Given the description of an element on the screen output the (x, y) to click on. 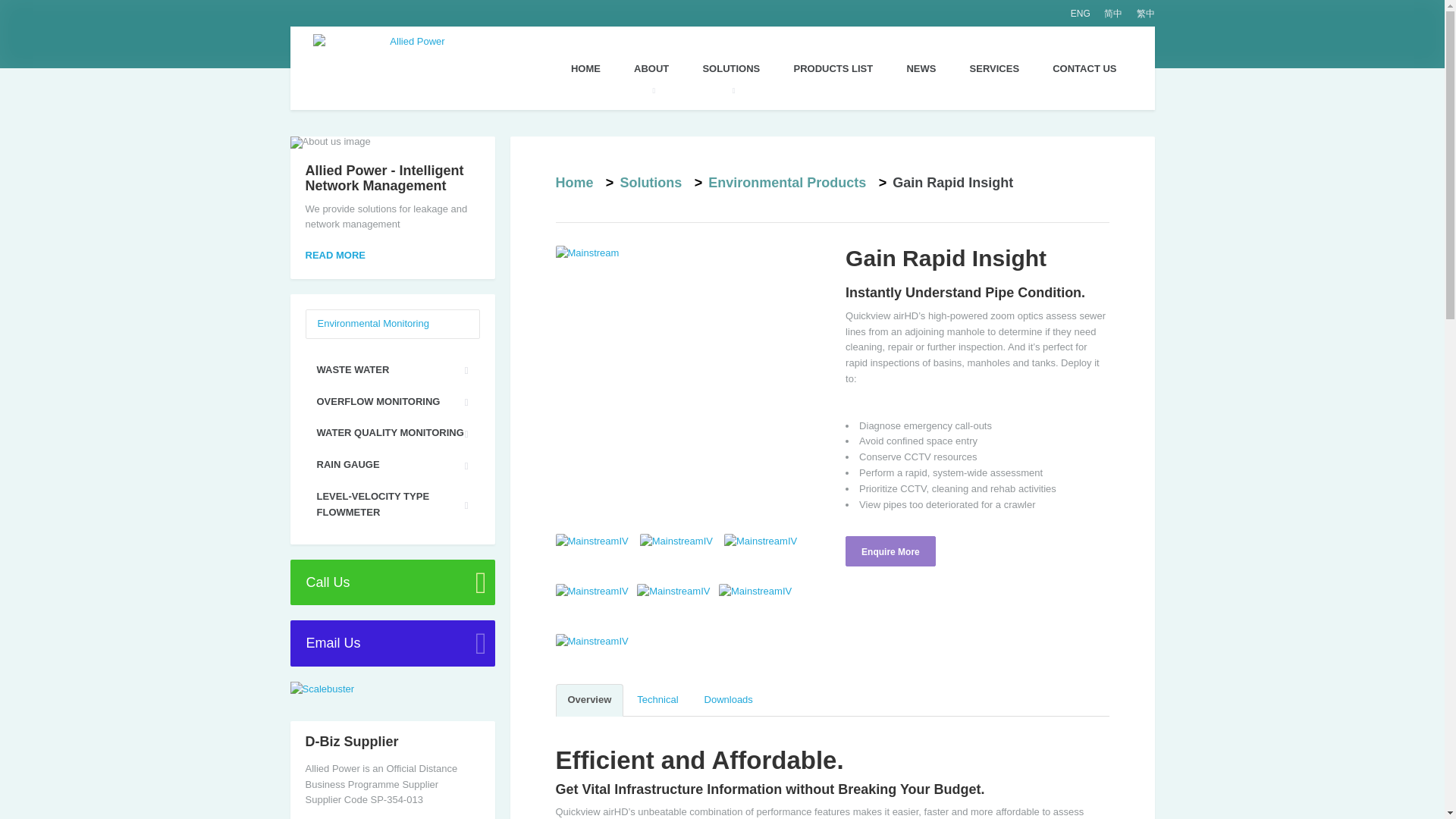
CONTACT US (1083, 68)
SERVICES (995, 68)
ABOUT (651, 68)
WASTE WATER (391, 369)
MainstreamIV (764, 541)
NEWS (920, 68)
Environmental Products (786, 182)
Environmental Monitoring (372, 323)
MainstreamIV (595, 591)
Mainstream (687, 378)
Overview (588, 699)
Enquire More (890, 551)
PRODUCTS LIST (832, 68)
Home (573, 182)
HOME (585, 73)
